Given the description of an element on the screen output the (x, y) to click on. 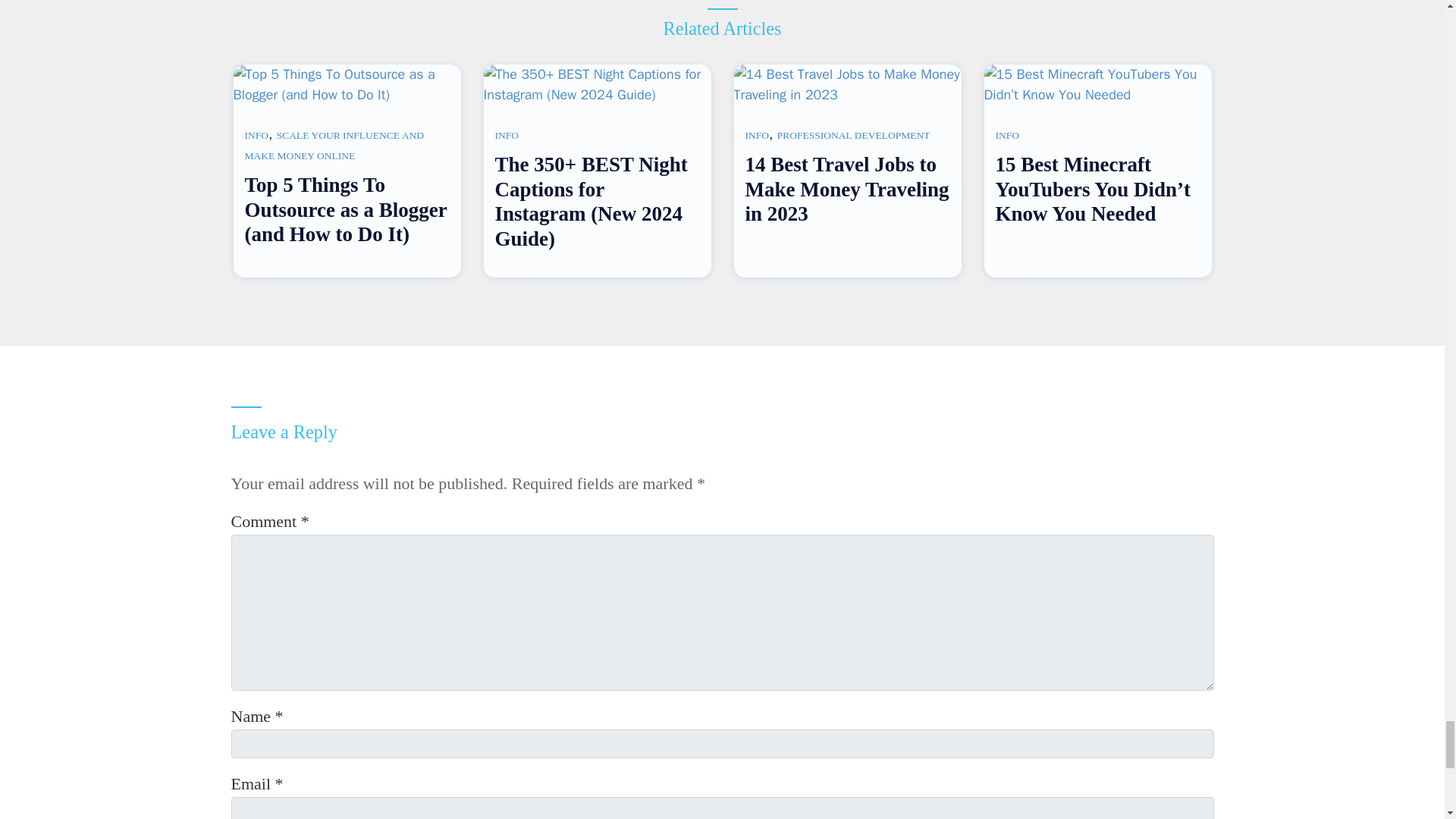
See more posts in Info (255, 134)
See more posts in Info (506, 134)
See more posts in Scale Your Influence and Make Money Online (333, 145)
